Given the description of an element on the screen output the (x, y) to click on. 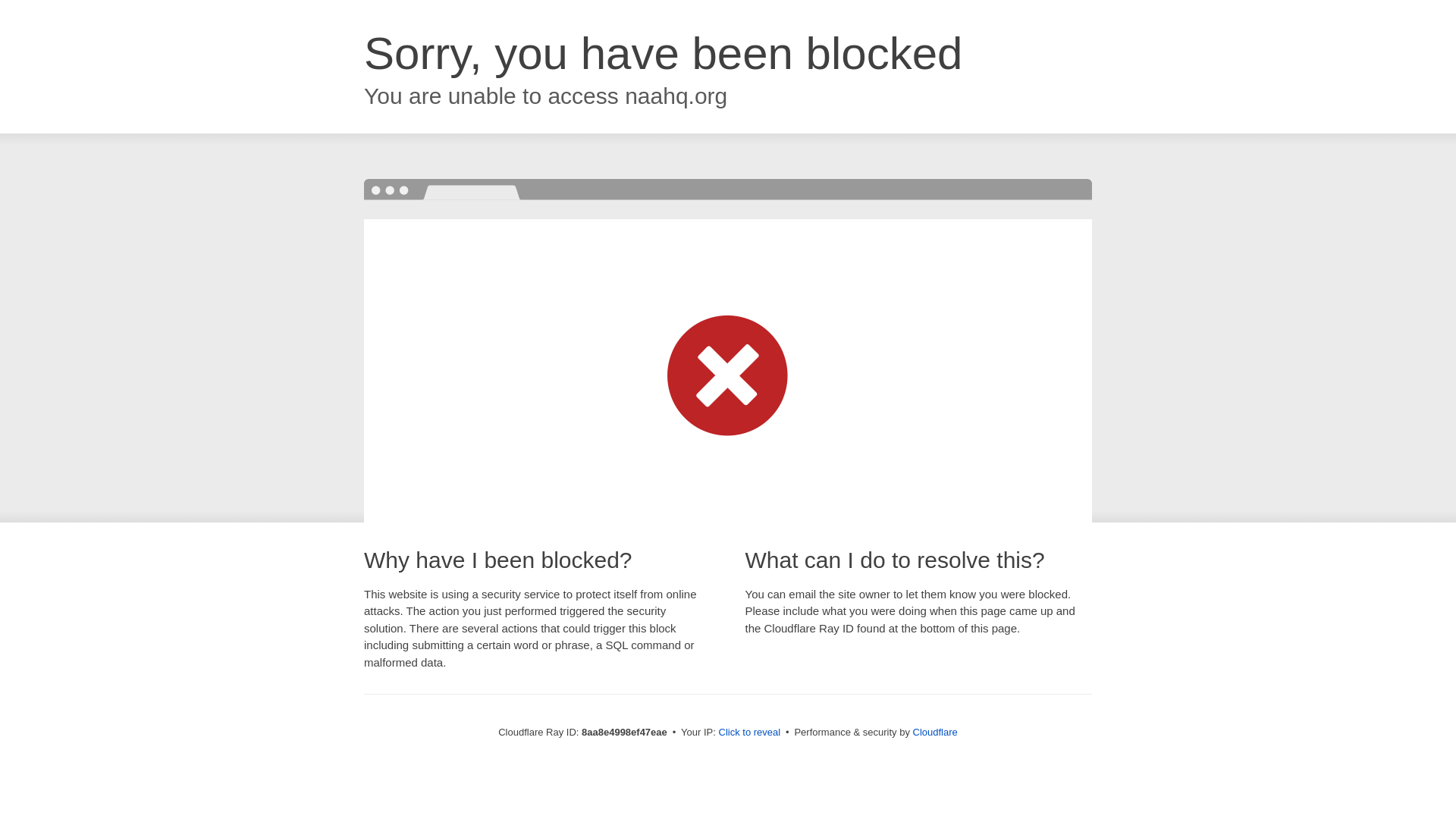
Click to reveal (749, 732)
Cloudflare (935, 731)
